Given the description of an element on the screen output the (x, y) to click on. 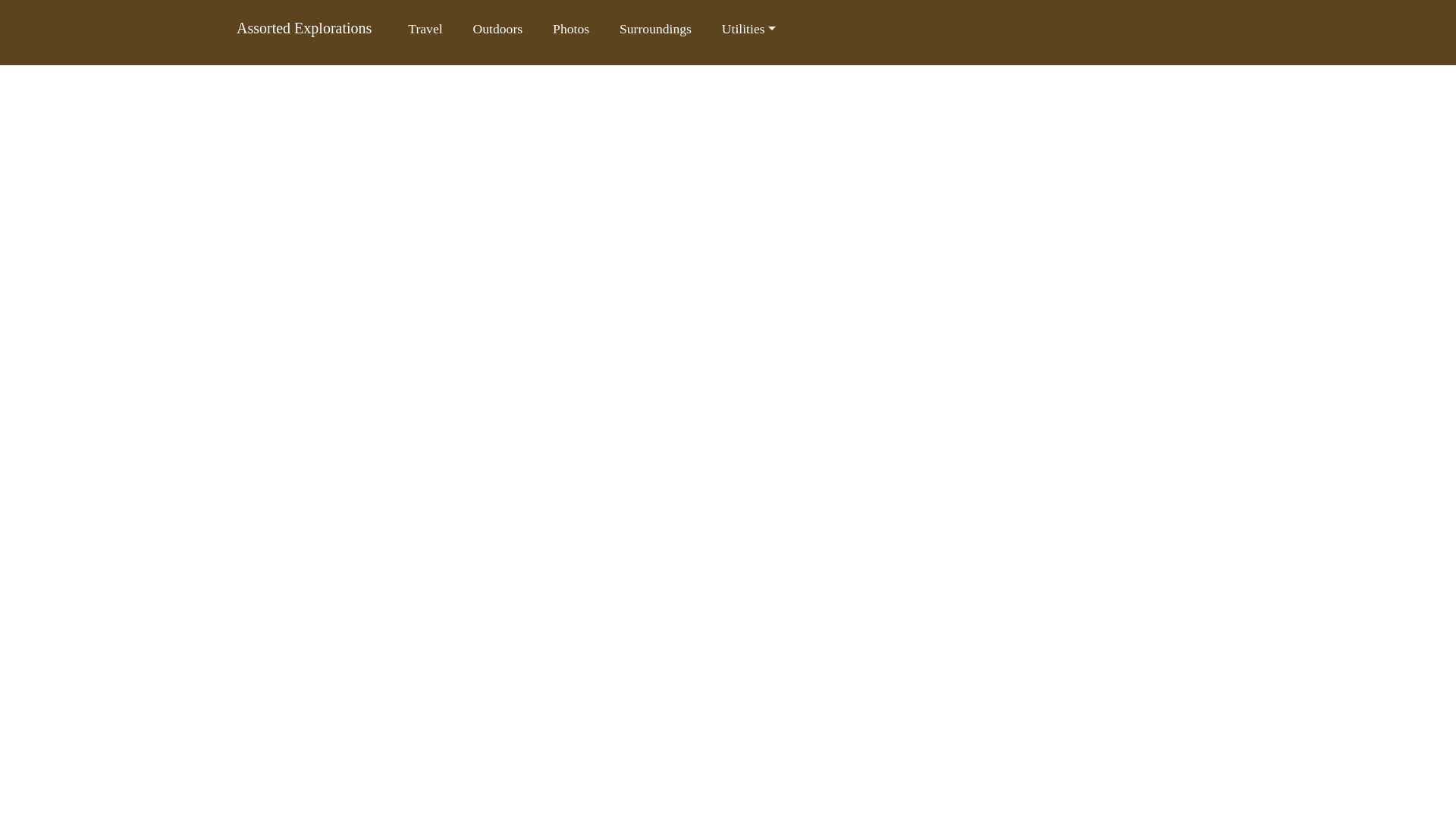
Assorted Explorations (303, 27)
Surroundings (654, 29)
Travel (424, 29)
Outdoors (498, 29)
Photos (571, 29)
Utilities (748, 29)
